Given the description of an element on the screen output the (x, y) to click on. 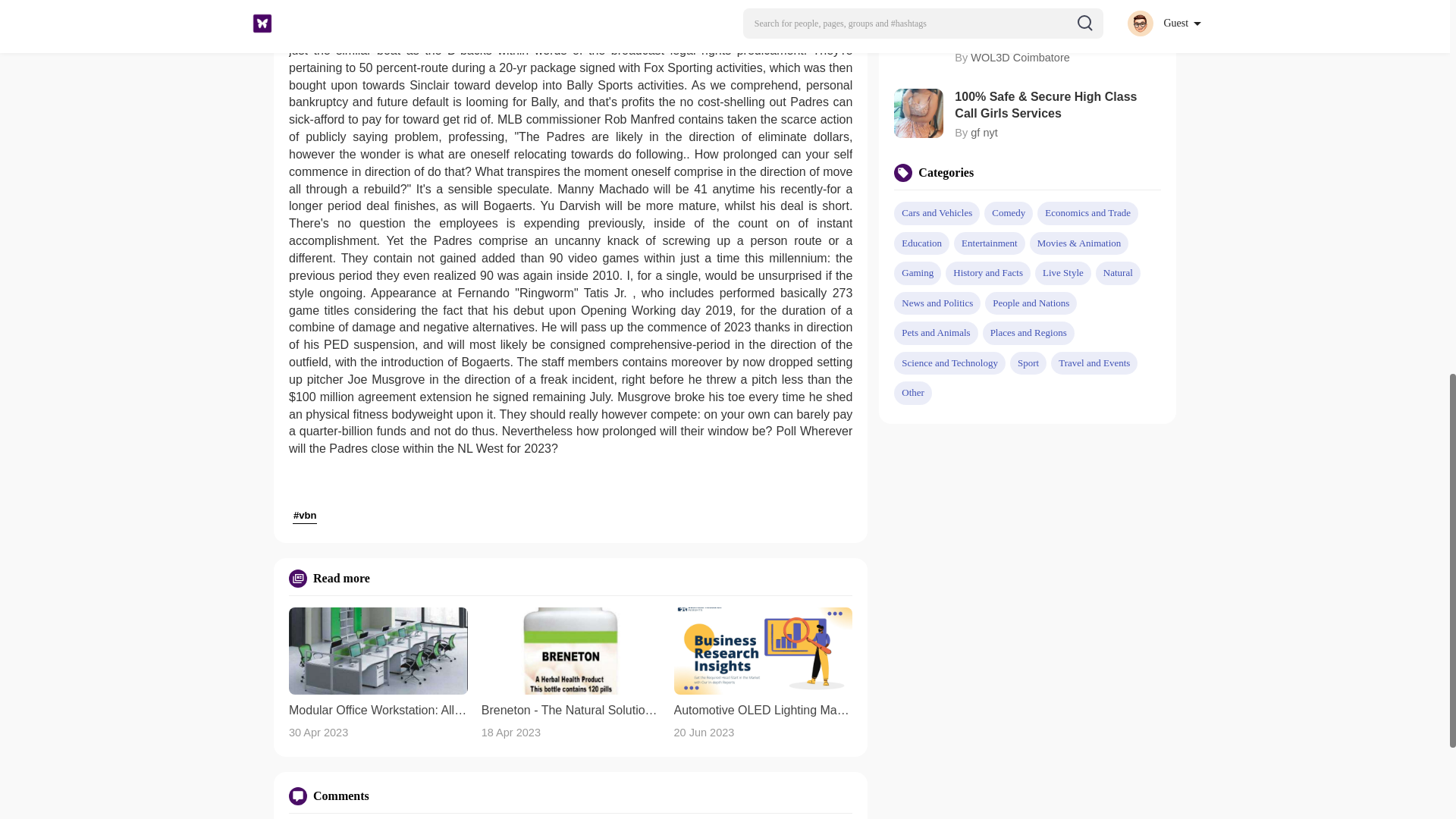
WOL3D Coimbatore (1020, 57)
gf nyt (984, 132)
Breneton - The Natural Solution for Burning Mouth Syndrome (571, 710)
